Given the description of an element on the screen output the (x, y) to click on. 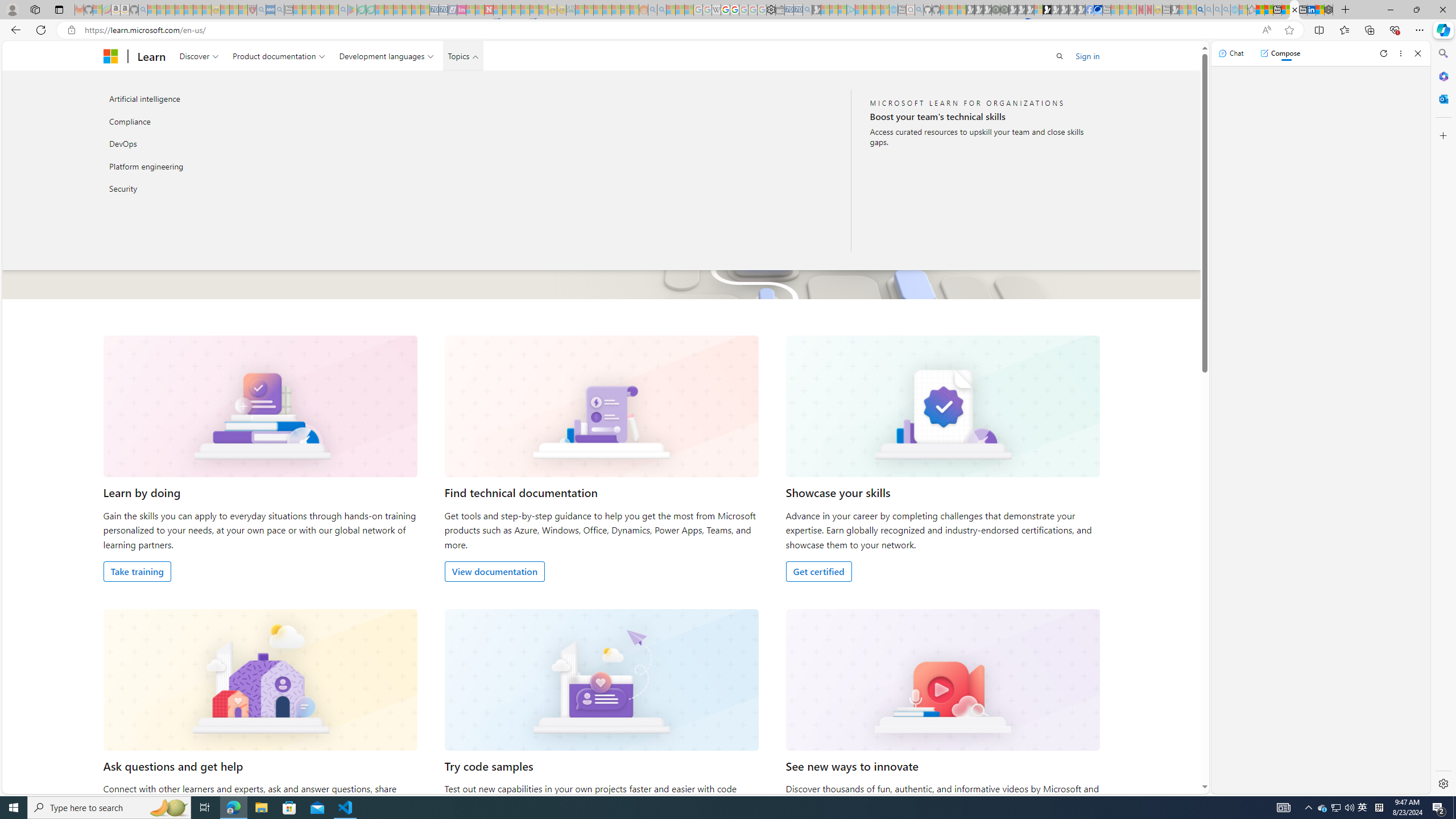
Microsoft Learn: Build skills that open doors in your career (1294, 9)
Topics (462, 55)
Development languages (386, 55)
Platform engineering (224, 166)
